Given the description of an element on the screen output the (x, y) to click on. 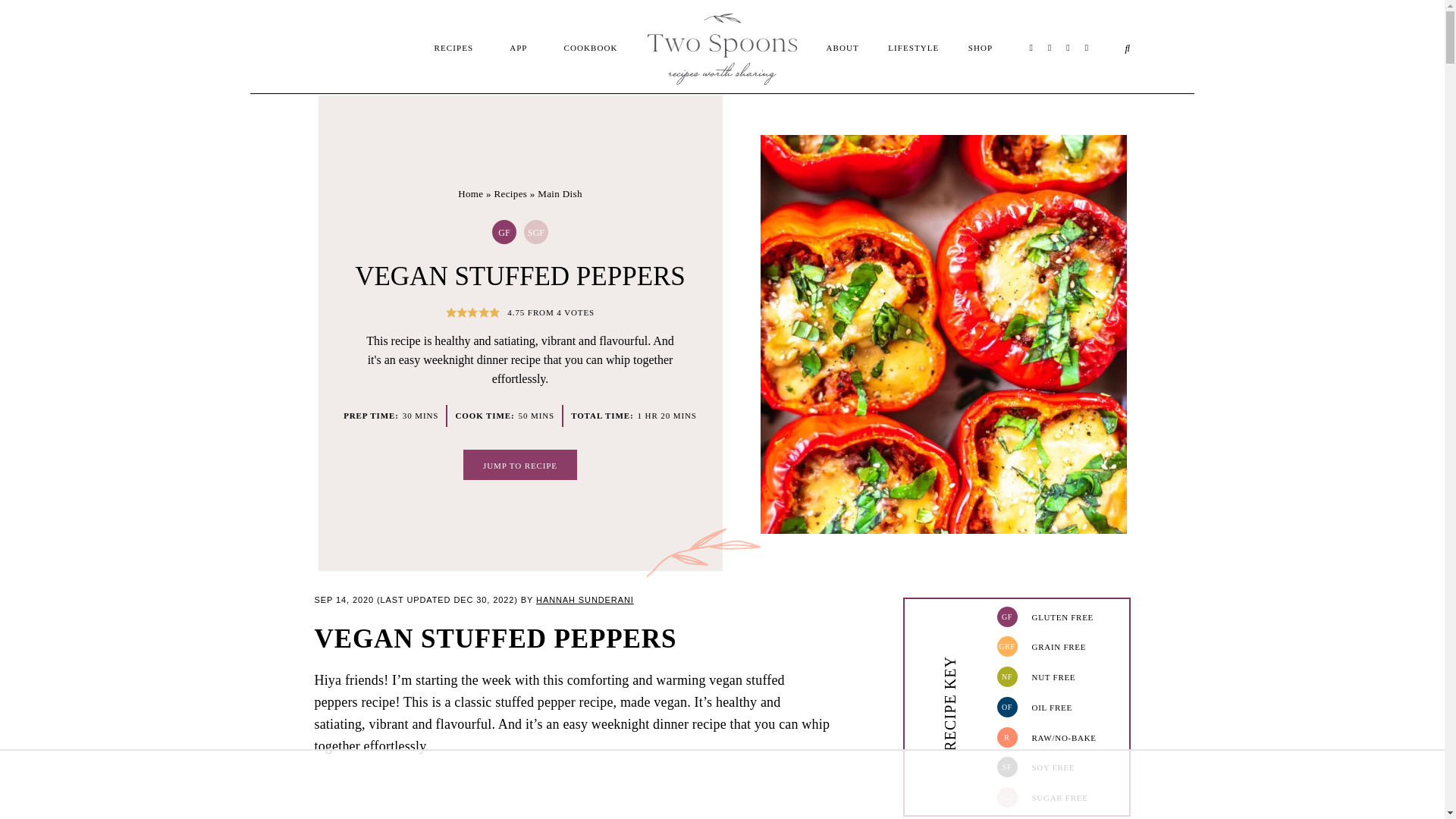
COOKBOOK (590, 47)
Main Dish (559, 193)
Cookbook (721, 29)
LIFESTYLE (913, 65)
App (721, 17)
JUMP TO RECIPE (519, 464)
SGF (535, 232)
Home (470, 193)
RECIPES (453, 47)
GF (503, 232)
